Given the description of an element on the screen output the (x, y) to click on. 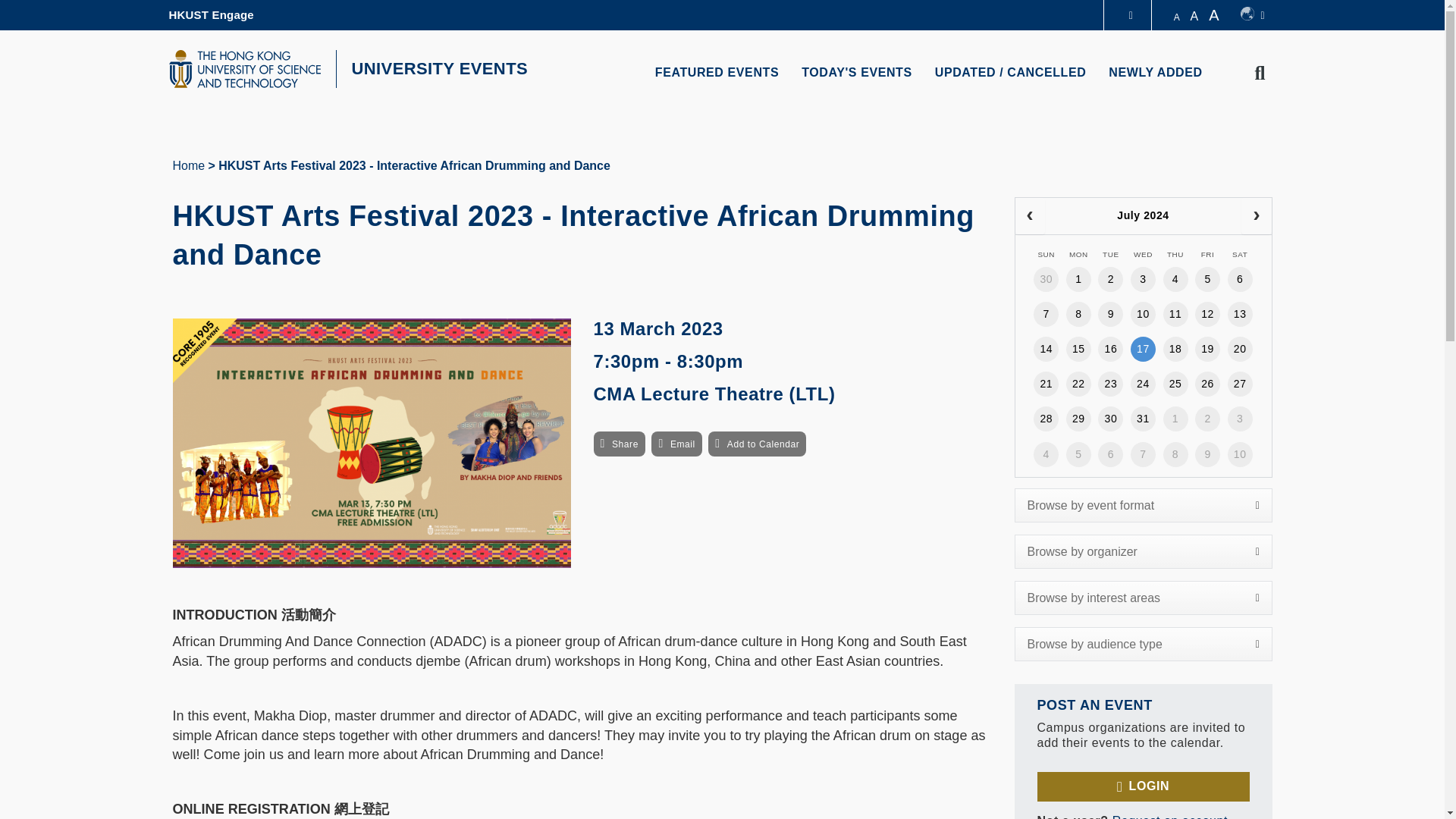
Expand Drawer (1130, 15)
TODAY'S EVENTS (856, 72)
Home (189, 164)
FEATURED EVENTS (716, 72)
HKUST (244, 68)
A (1176, 17)
Search (1260, 73)
HKUST Engage (210, 15)
NEWLY ADDED (1154, 72)
A (1194, 15)
UNIVERSITY EVENTS (440, 68)
A (1216, 14)
Search (897, 409)
